Given the description of an element on the screen output the (x, y) to click on. 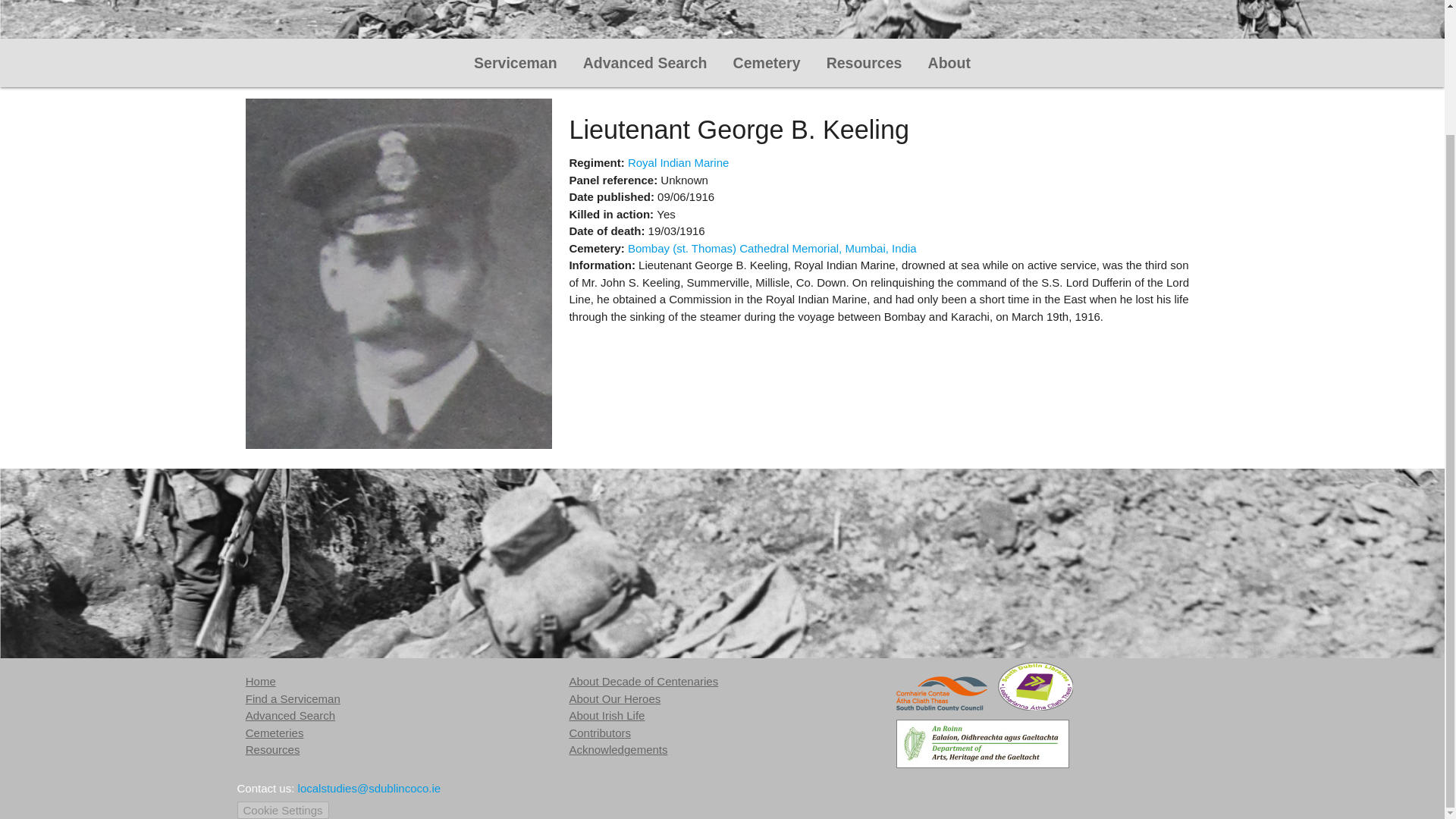
About (949, 62)
About Irish Life (607, 715)
Resources (272, 748)
Advanced Search (290, 715)
Royal Indian Marine (678, 162)
Find a Serviceman (293, 698)
Contributors (599, 732)
Cemeteries (275, 732)
About Decade of Centenaries (643, 680)
Acknowledgements (617, 748)
Serviceman (516, 62)
Resources (864, 62)
Home (261, 680)
About Our Heroes (615, 698)
Cemetery (767, 62)
